Given the description of an element on the screen output the (x, y) to click on. 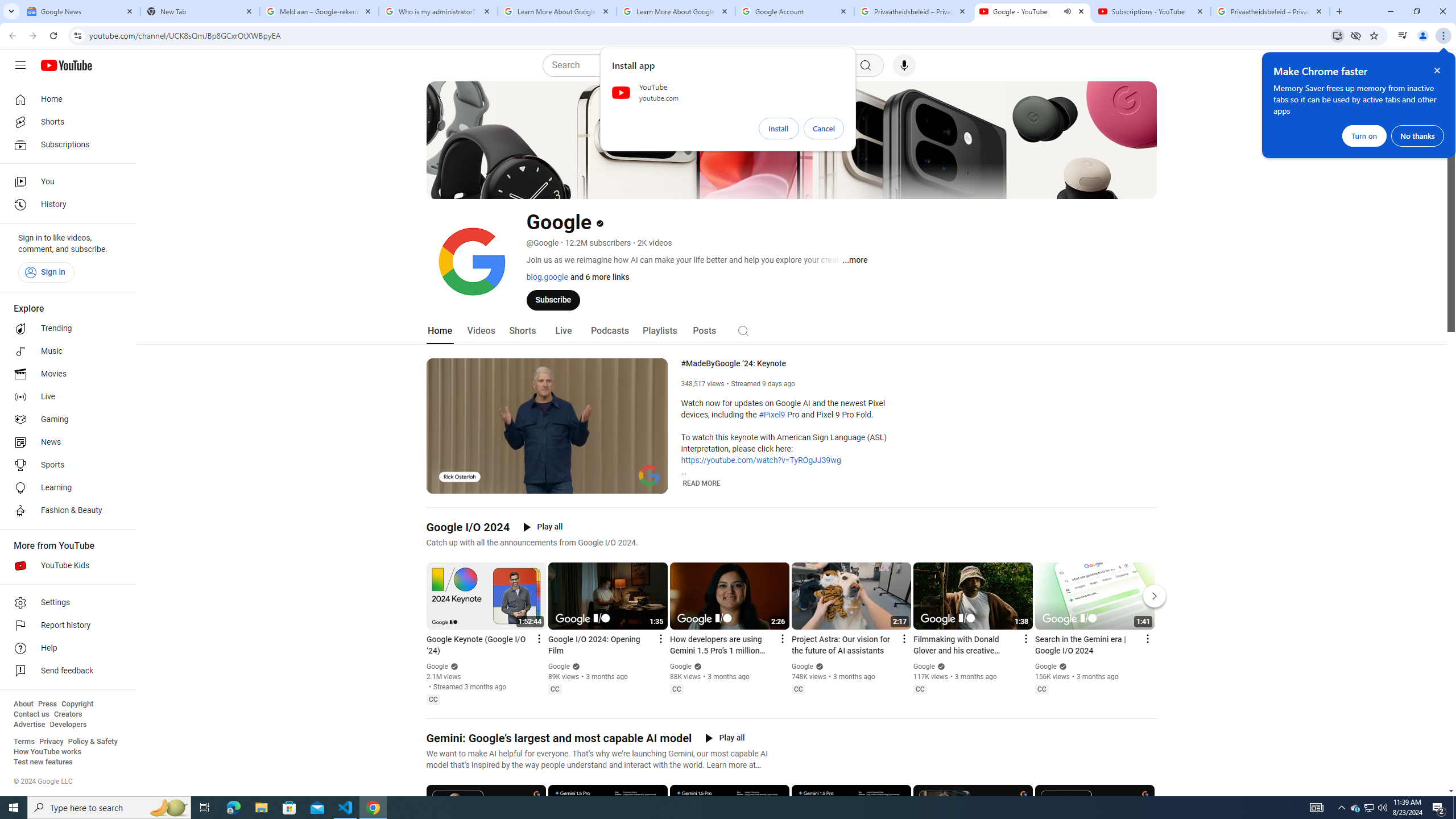
Install (778, 128)
Gaming (64, 419)
Policy & Safety (91, 741)
Mute (m) (463, 483)
No thanks (1417, 135)
Subscribe (552, 299)
How YouTube works (47, 751)
Shorts (64, 121)
Google Account (794, 11)
